Given the description of an element on the screen output the (x, y) to click on. 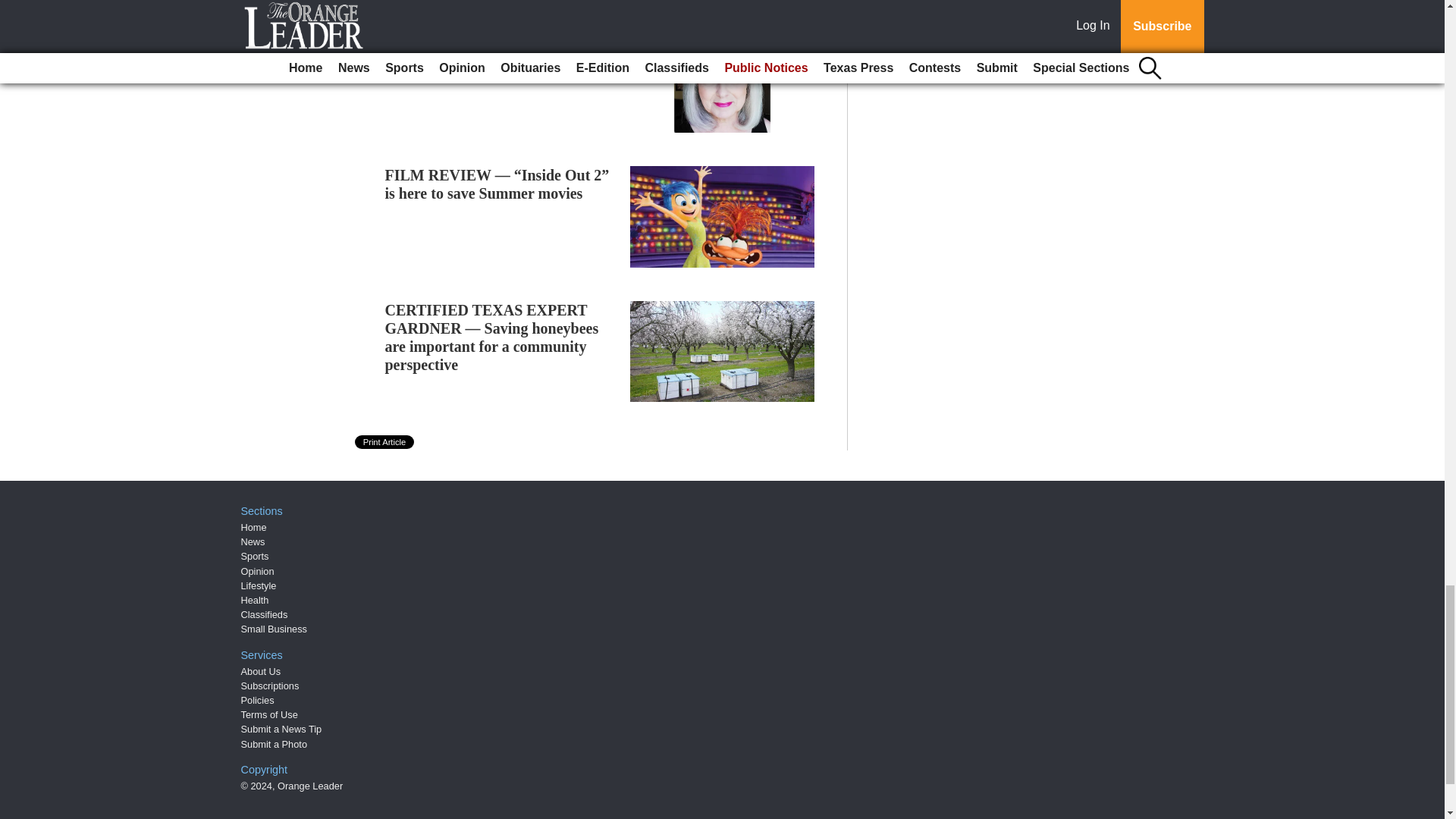
News (252, 541)
Print Article (384, 441)
Home (253, 527)
